Given the description of an element on the screen output the (x, y) to click on. 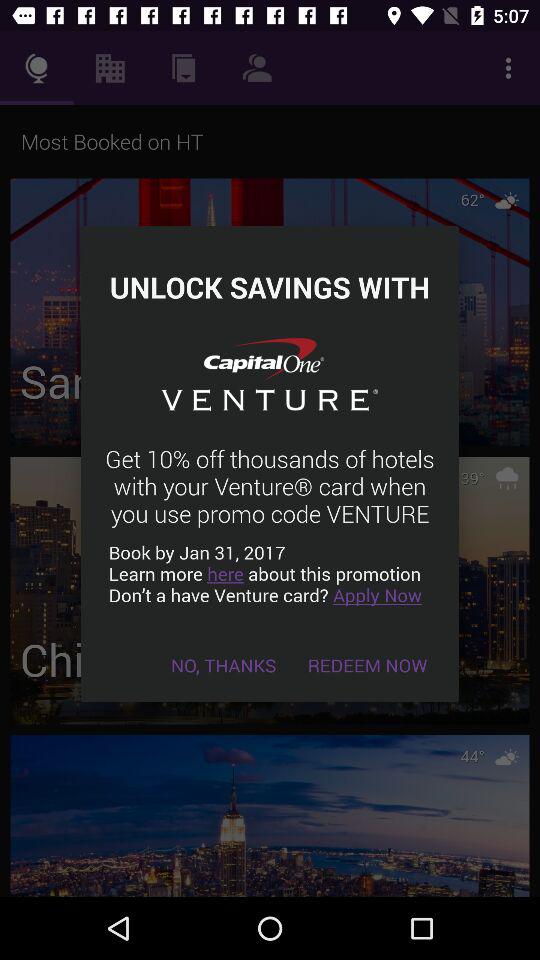
select the no, thanks item (223, 664)
